Given the description of an element on the screen output the (x, y) to click on. 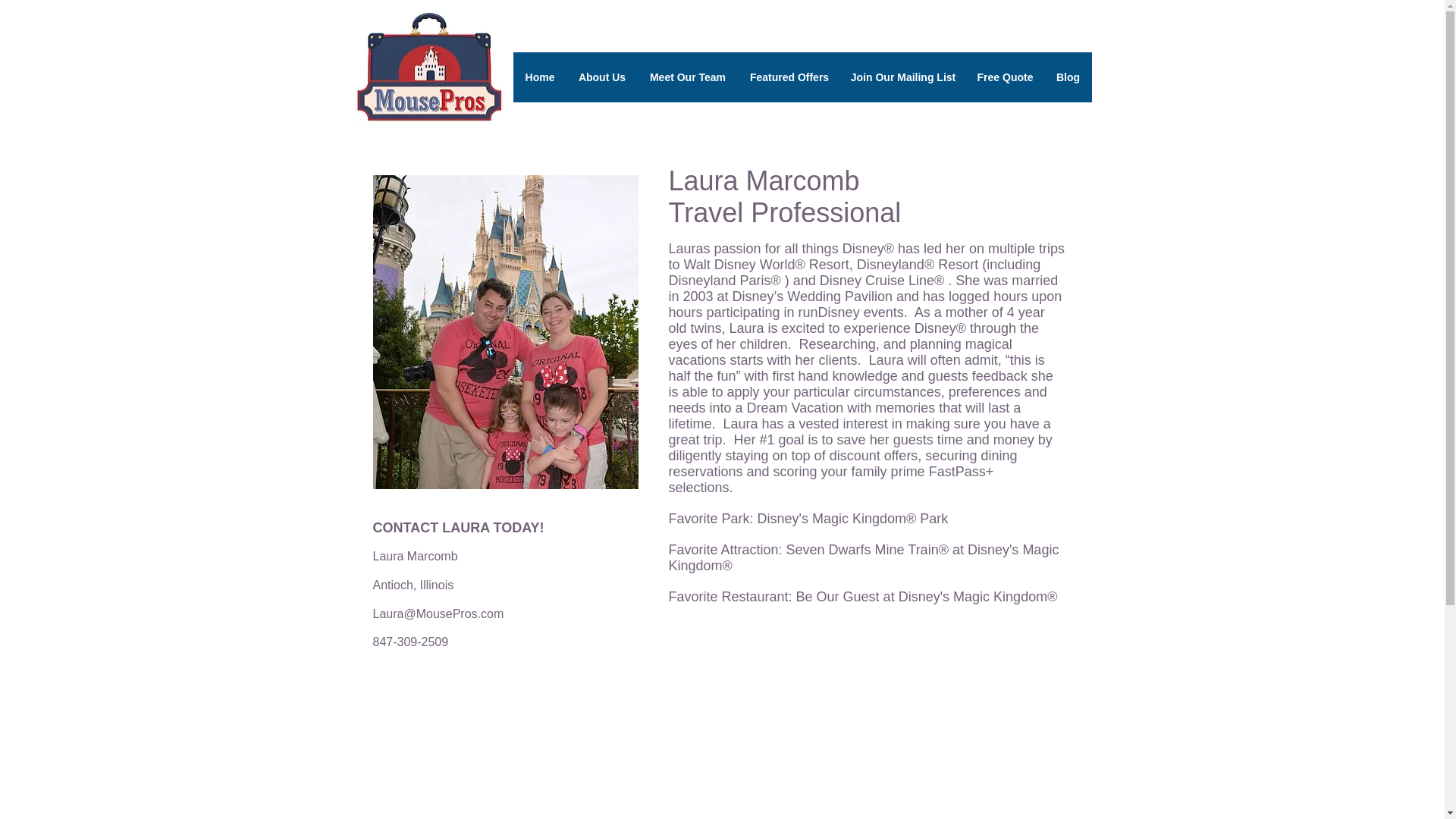
Join Our Mailing List (902, 77)
Free Quote (1005, 77)
Featured Offers (789, 77)
Blog (1068, 77)
Home (539, 77)
Meet Our Team (687, 77)
